Given the description of an element on the screen output the (x, y) to click on. 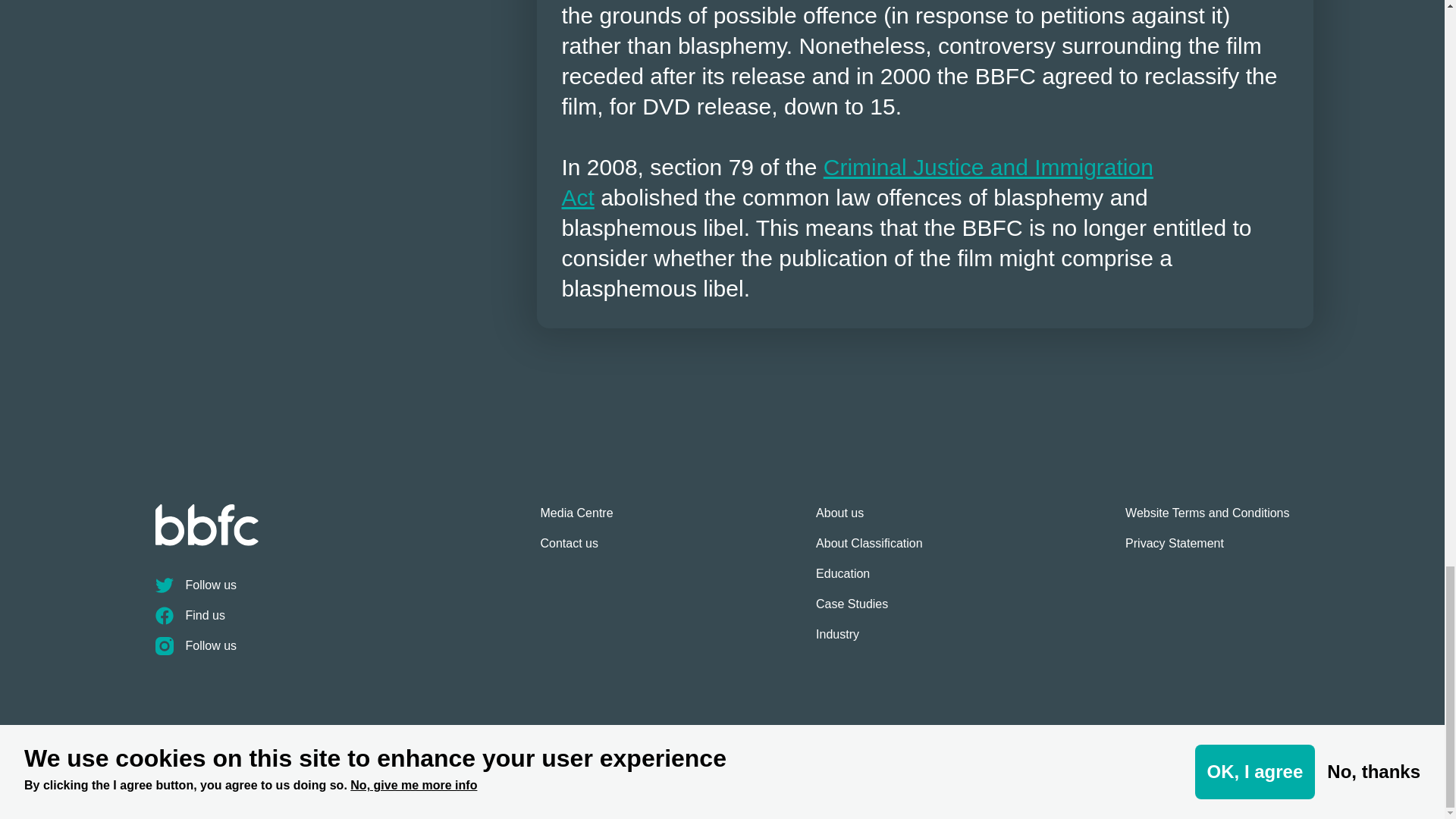
Find us (347, 621)
About Classification (869, 549)
Contact us (576, 549)
Education (869, 580)
About us (869, 519)
Follow us (347, 591)
Website Terms and Conditions (1206, 519)
Media Centre (576, 519)
Follow us (347, 652)
Industry (869, 640)
Privacy Statement (1206, 549)
Case Studies (869, 610)
Criminal Justice and Immigration Act (856, 181)
